Given the description of an element on the screen output the (x, y) to click on. 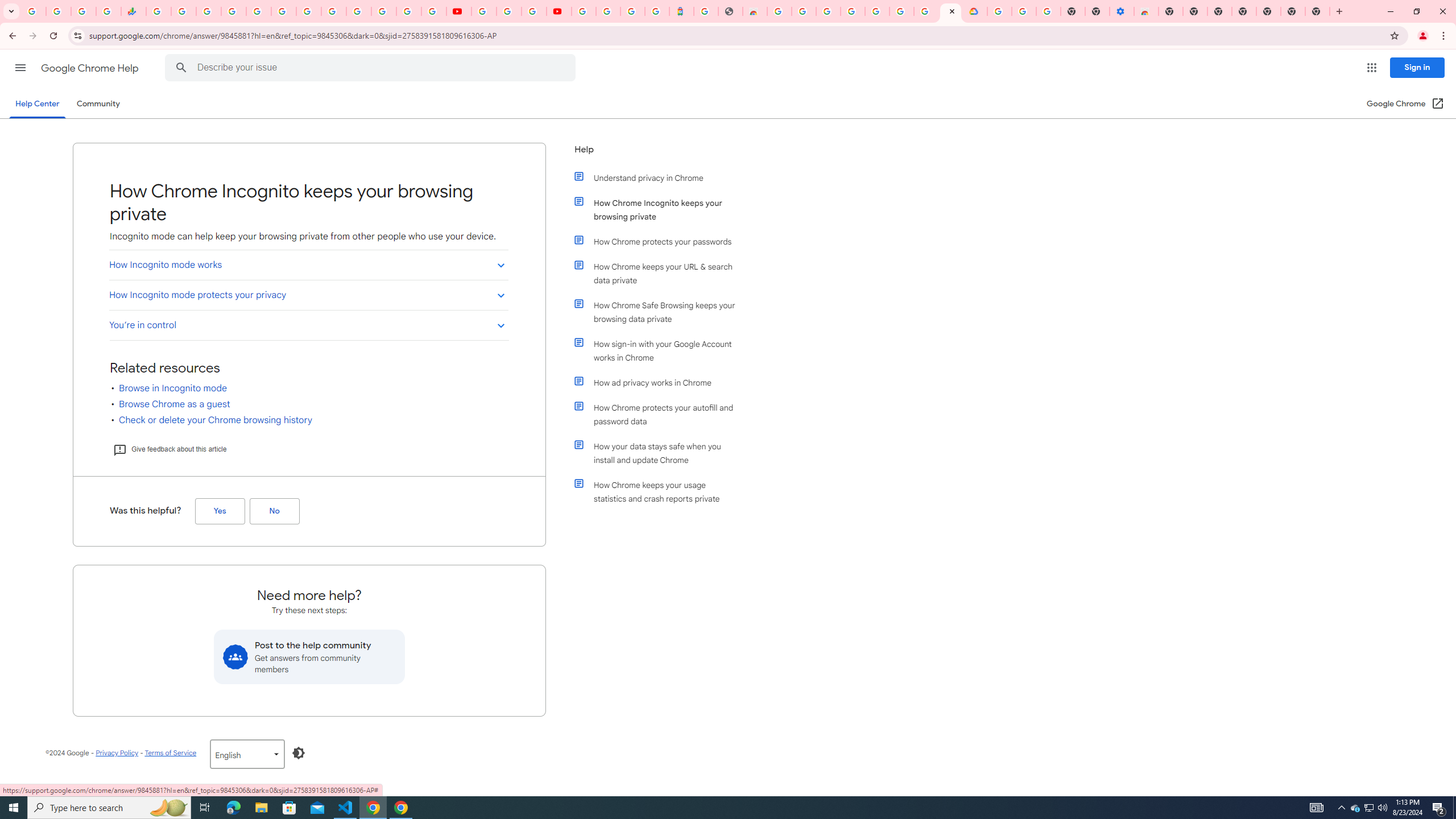
Privacy Policy (117, 752)
Google apps (1371, 67)
How Chrome protects your autofill and password data (661, 414)
Understand privacy in Chrome (661, 177)
Help (656, 153)
Check or delete your Chrome browsing history (216, 419)
Main menu (20, 67)
How ad privacy works in Chrome (661, 382)
Sign in - Google Accounts (583, 11)
Google Account Help (876, 11)
